Given the description of an element on the screen output the (x, y) to click on. 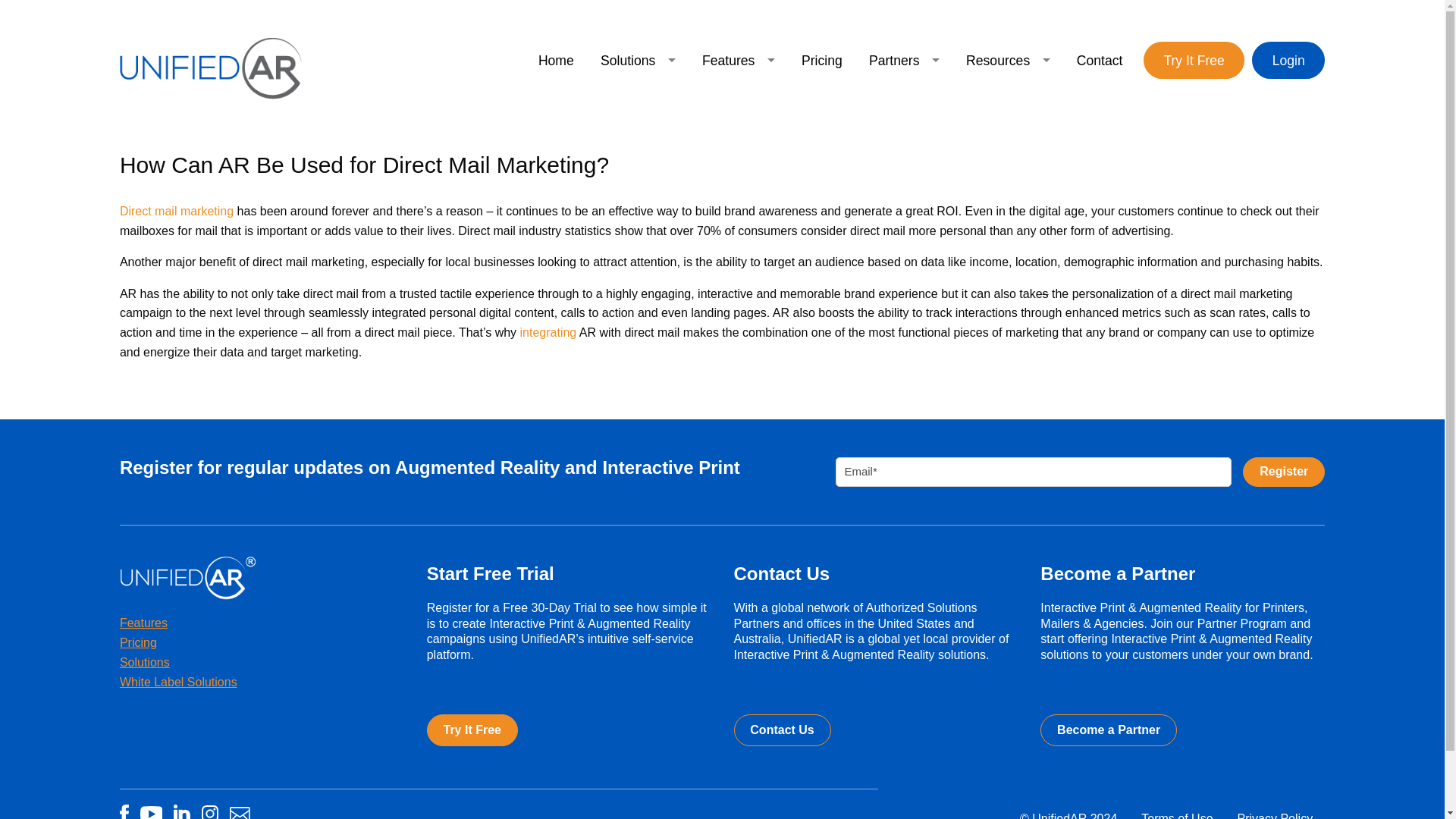
Features (737, 59)
Register (1283, 471)
Home (555, 59)
Solutions (637, 59)
Unified AR (210, 67)
Submit (1283, 471)
